Given the description of an element on the screen output the (x, y) to click on. 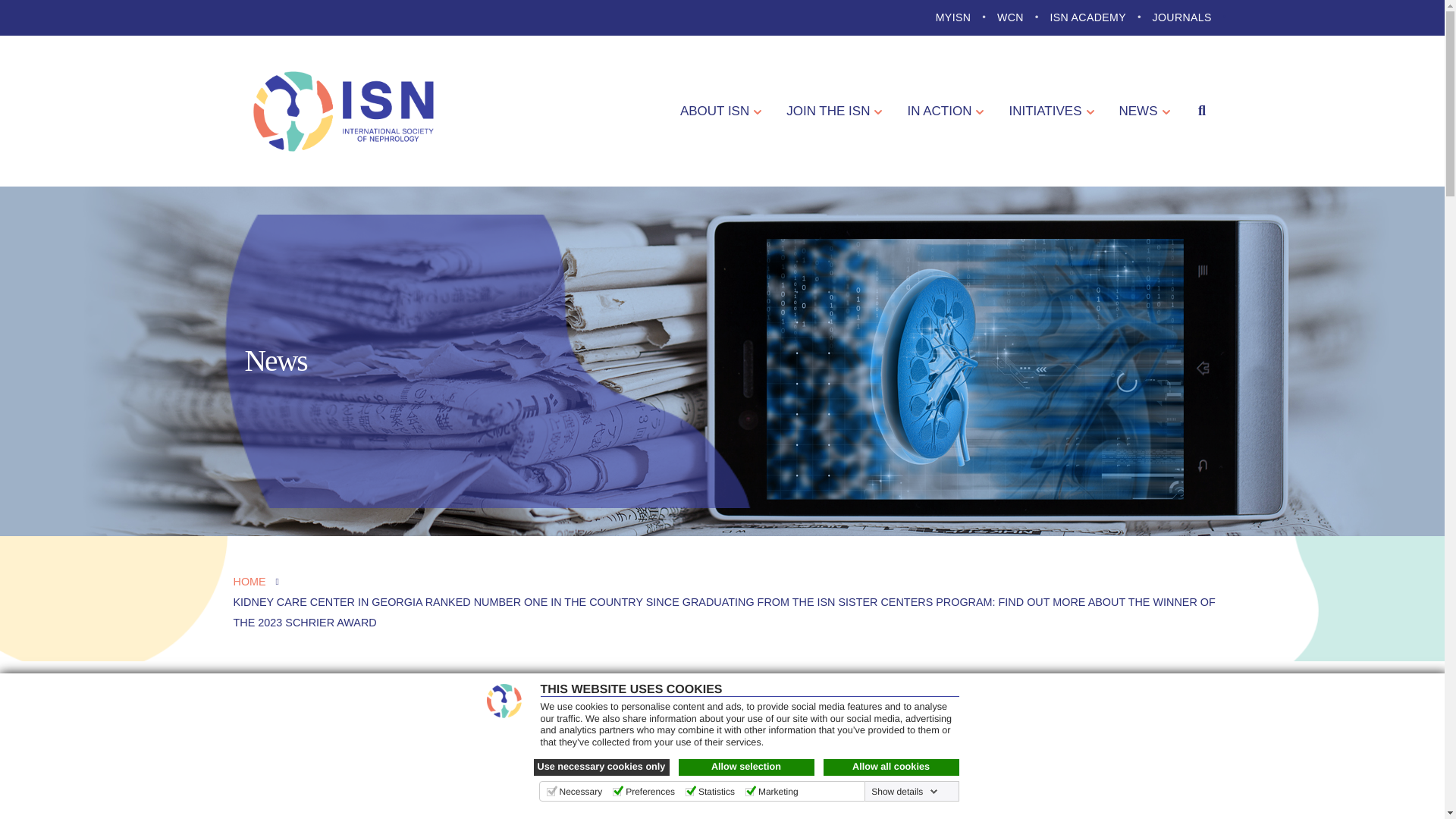
Allow selection (745, 767)
Use necessary cookies only (601, 767)
Show details (903, 791)
Allow all cookies (891, 767)
